Given the description of an element on the screen output the (x, y) to click on. 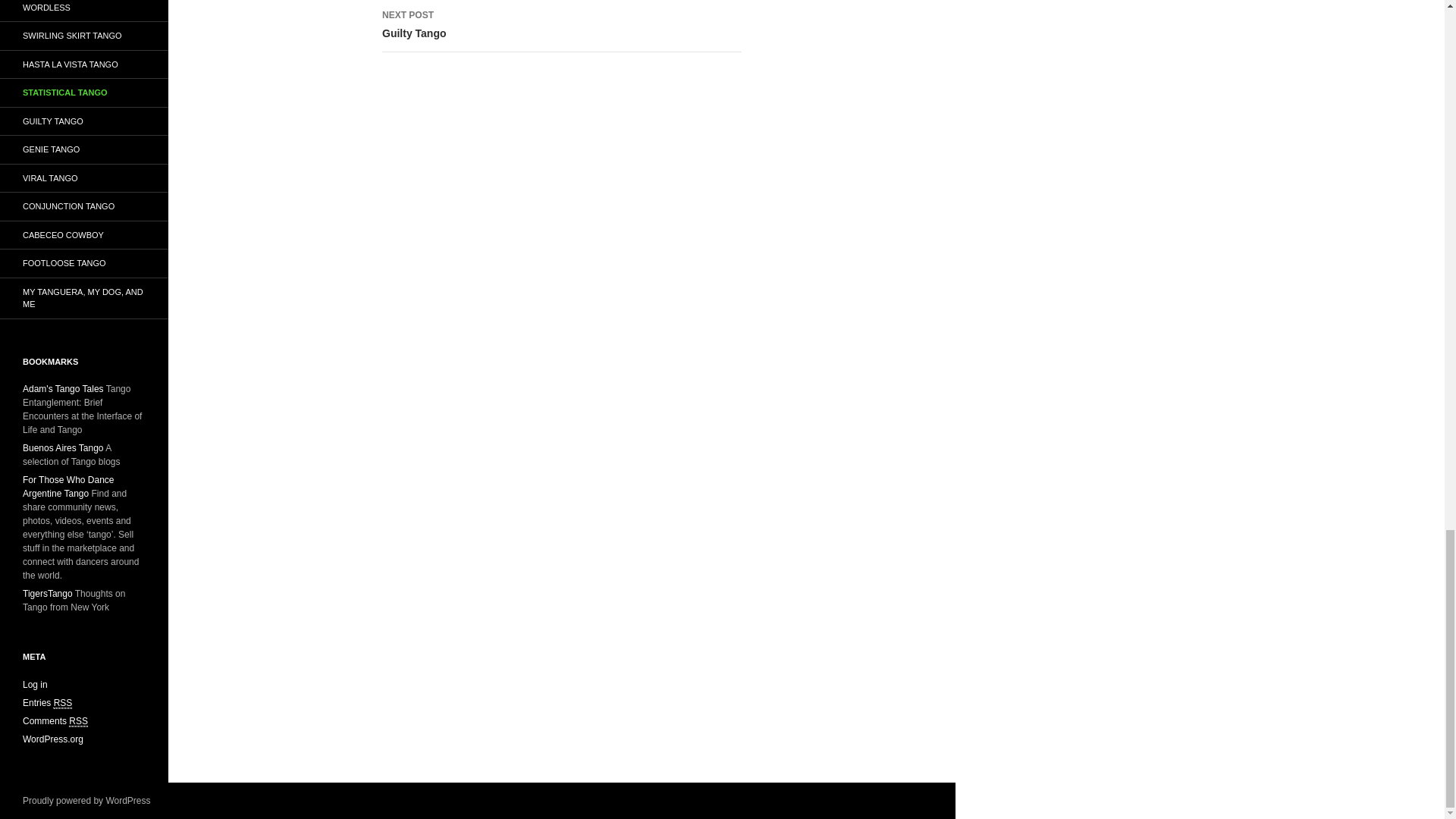
Really Simple Syndication (561, 26)
A selection of Tango blogs (77, 721)
Thoughts on Tango from New York (63, 448)
Really Simple Syndication (47, 593)
